Given the description of an element on the screen output the (x, y) to click on. 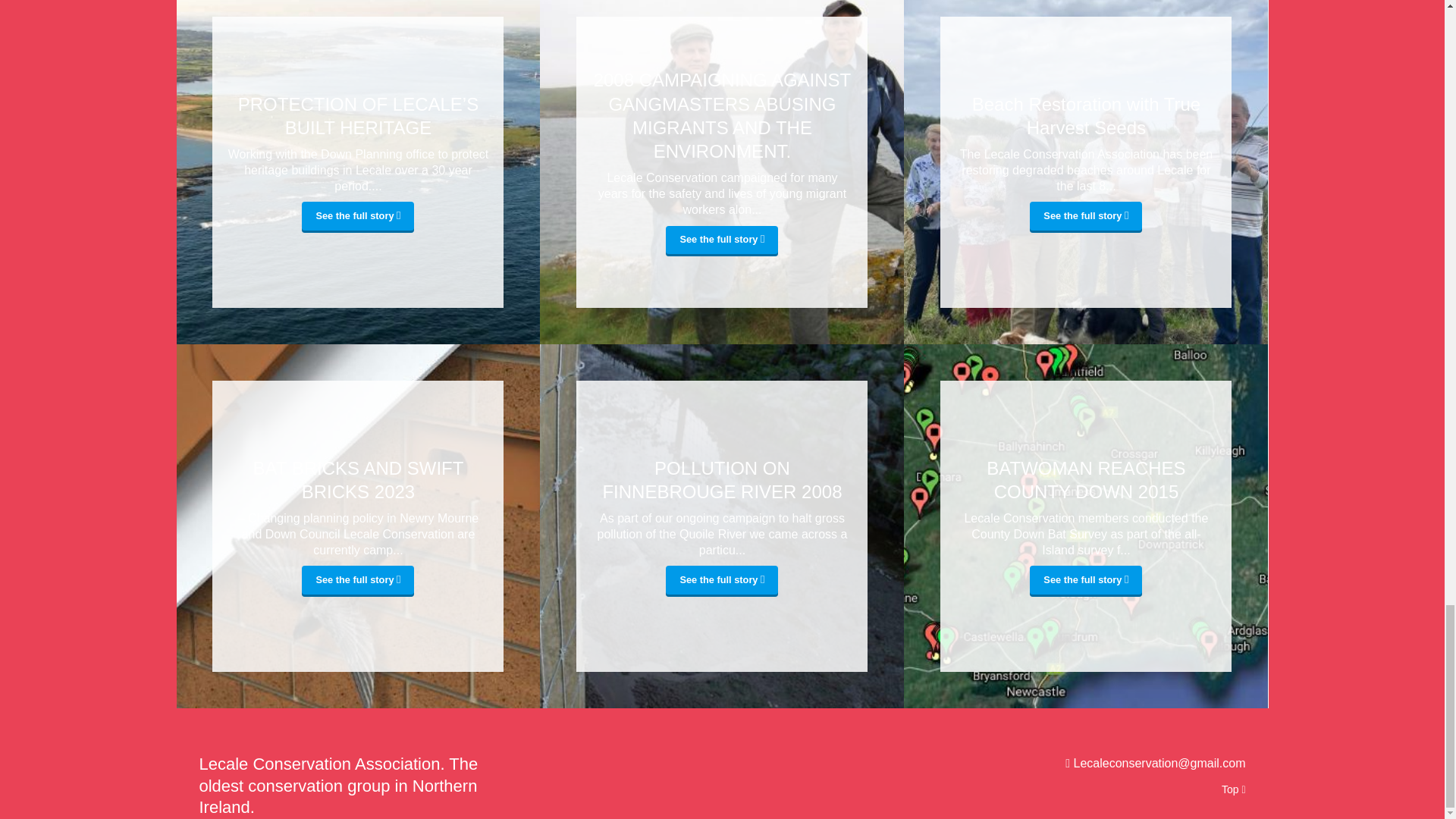
See the full story (721, 580)
BAT BRICKS AND SWIFT BRICKS 2023 (357, 479)
See the full story (1085, 580)
See the full story (1085, 216)
See the full story (721, 241)
BATWOMAN REACHES COUNTY DOWN 2015 (1085, 479)
POLLUTION ON FINNEBROUGE RIVER 2008 (721, 479)
See the full story (357, 580)
See the full story (357, 216)
